Given the description of an element on the screen output the (x, y) to click on. 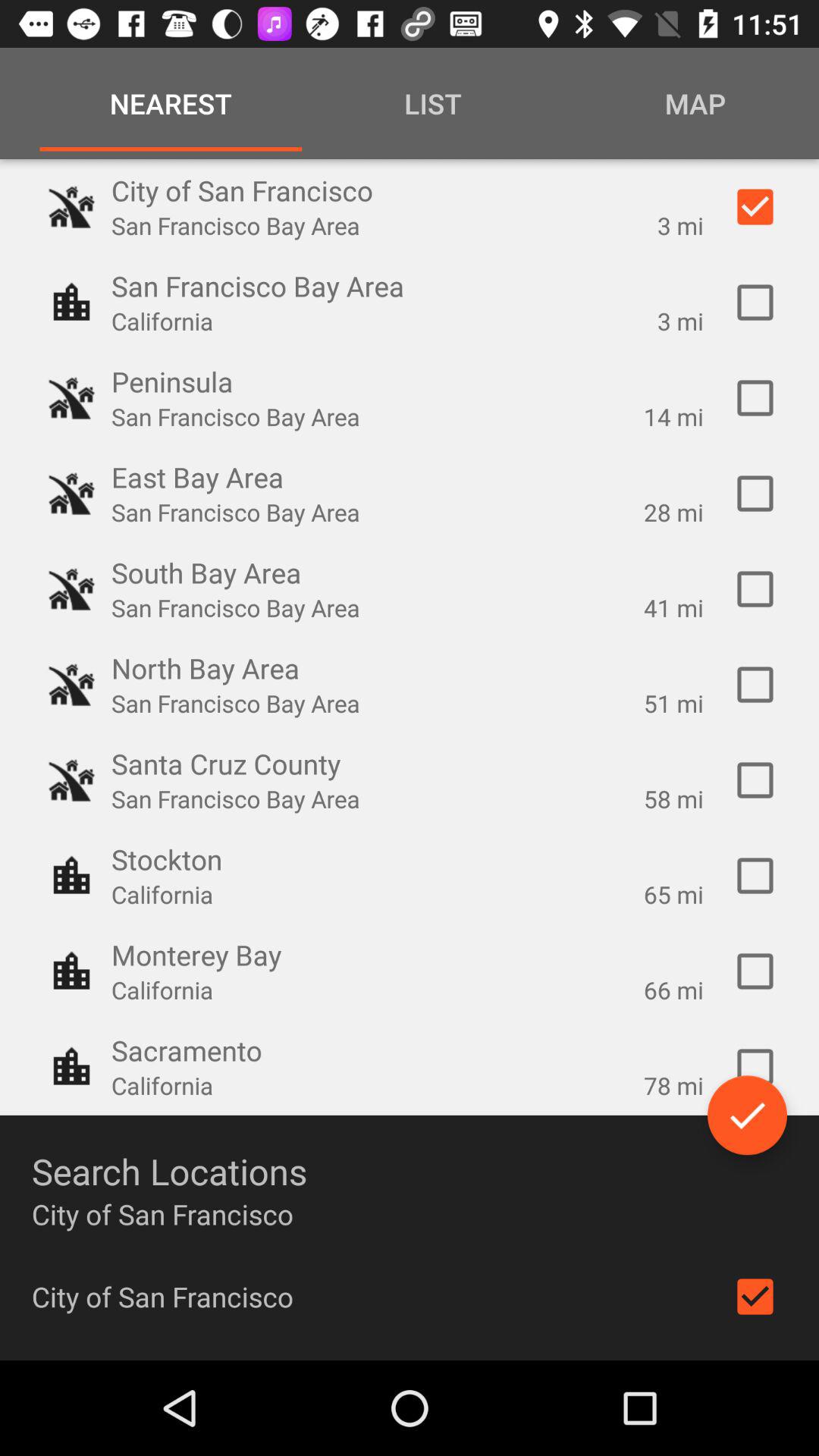
verify selections (747, 1115)
